Given the description of an element on the screen output the (x, y) to click on. 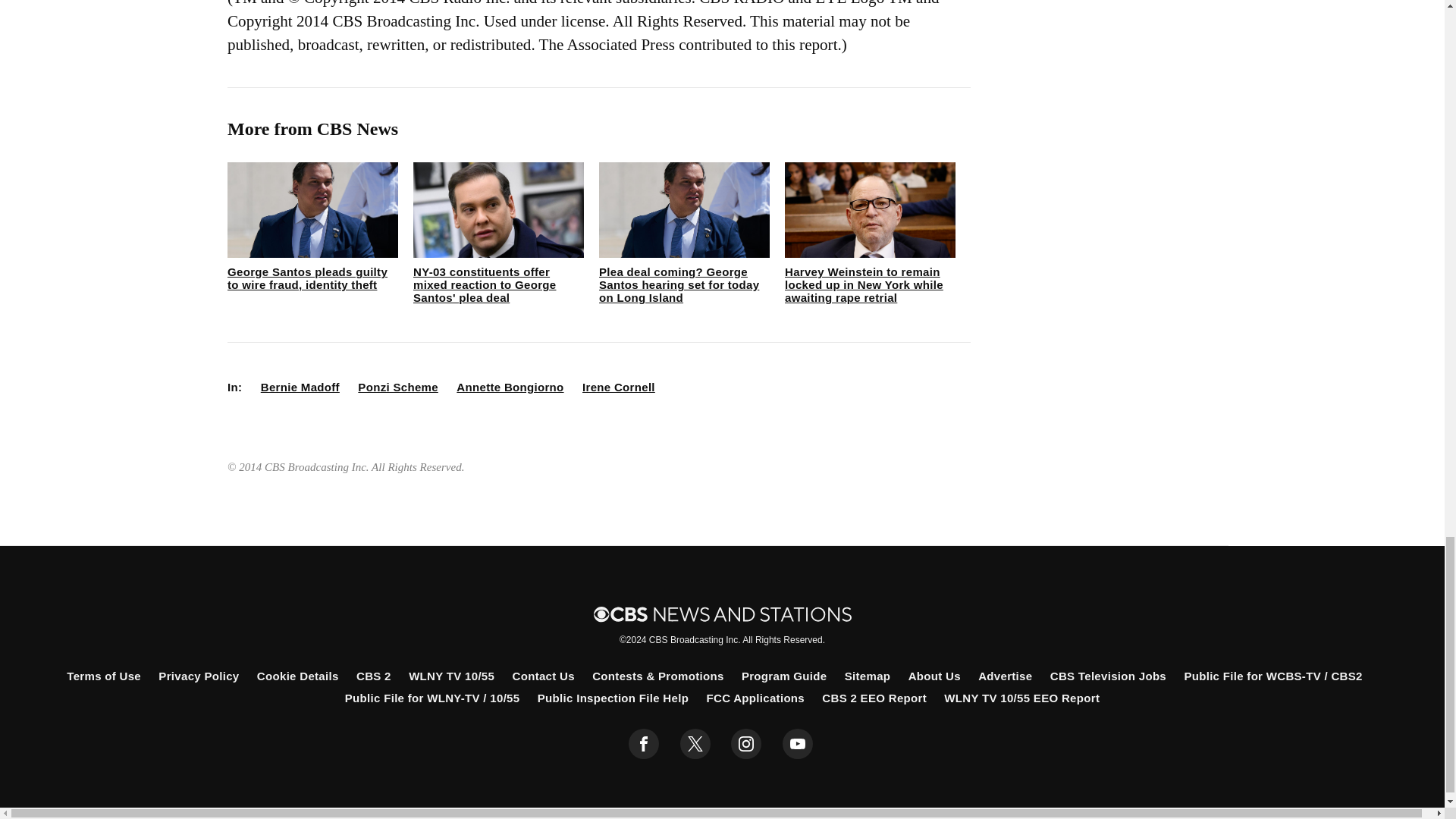
twitter (694, 743)
youtube (797, 743)
facebook (643, 743)
instagram (745, 743)
